Given the description of an element on the screen output the (x, y) to click on. 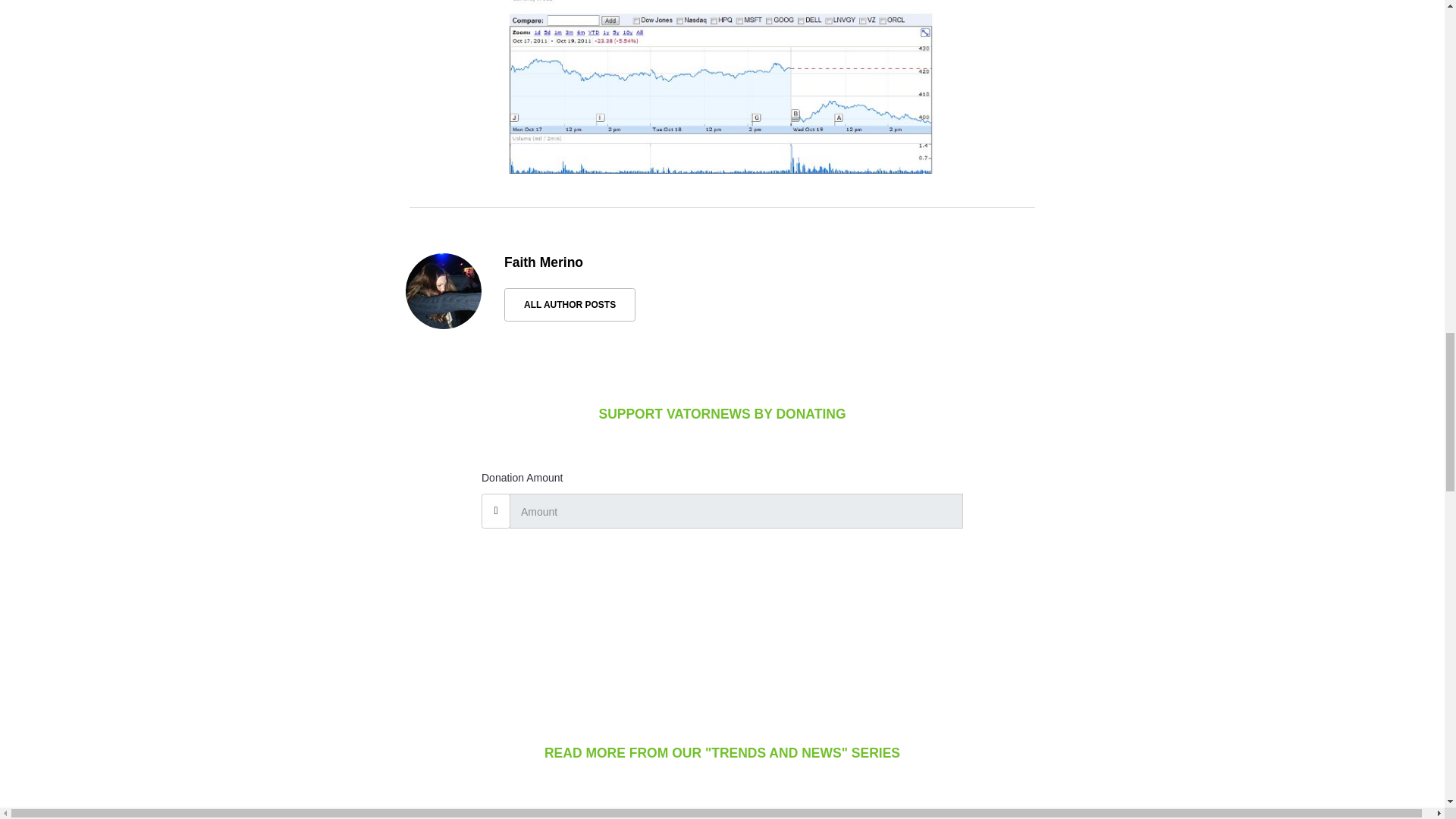
ALL AUTHOR POSTS (568, 304)
PayPal (721, 603)
Faith Merino (543, 262)
